Given the description of an element on the screen output the (x, y) to click on. 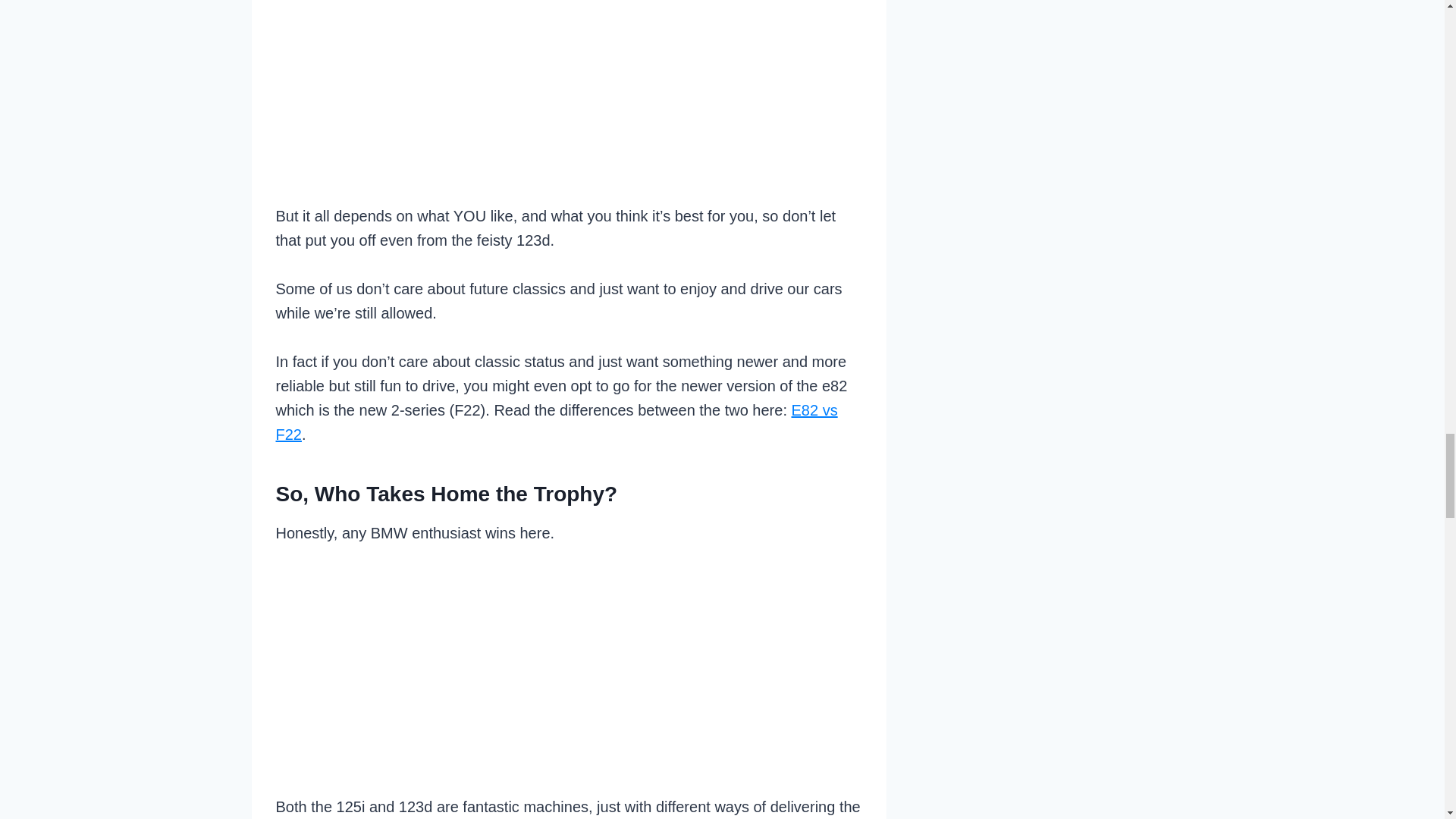
E82 vs F22 (557, 422)
